Given the description of an element on the screen output the (x, y) to click on. 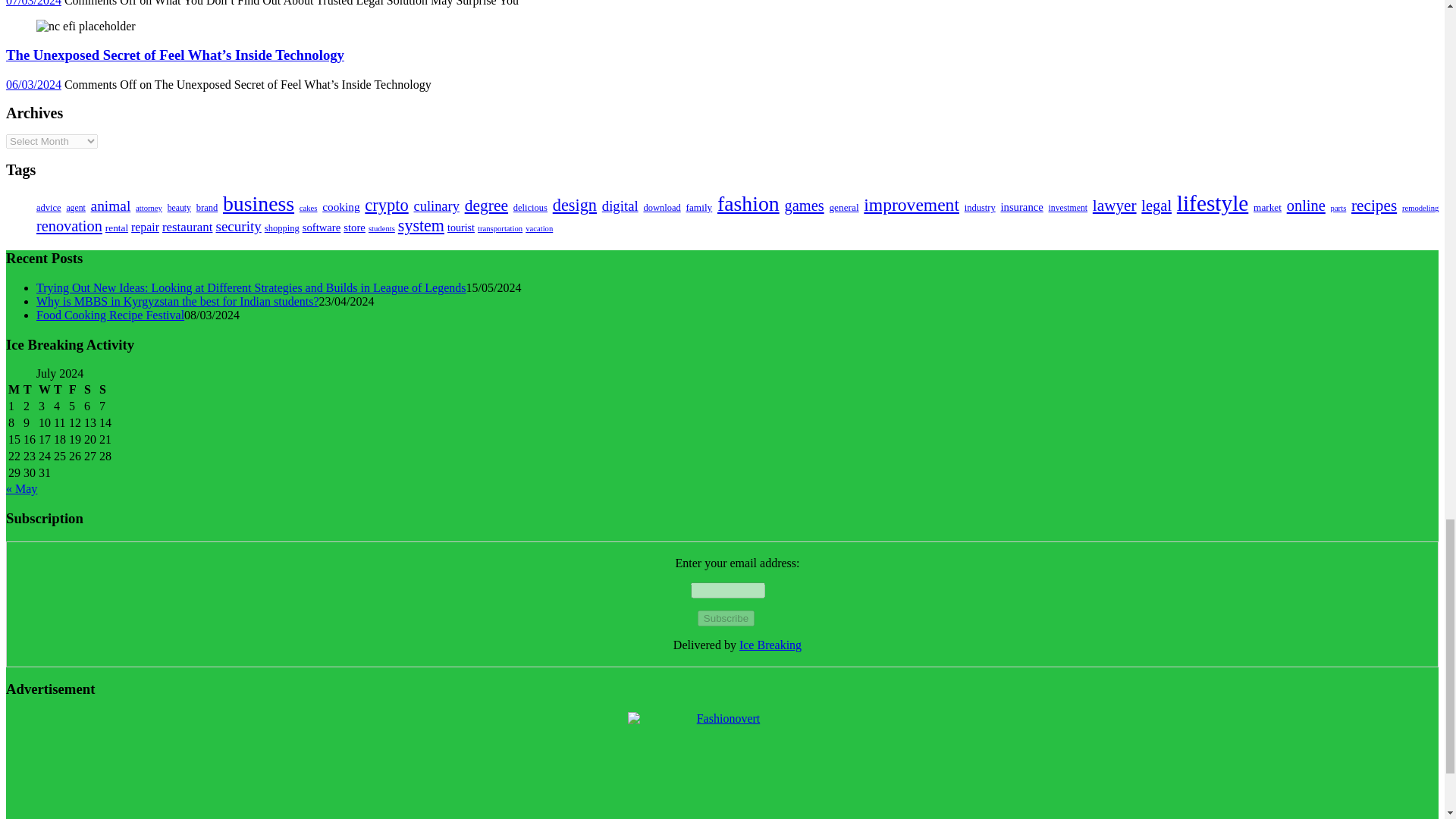
Thursday (59, 389)
Wednesday (43, 389)
Friday (74, 389)
Sunday (105, 389)
Monday (14, 389)
Tuesday (29, 389)
The Unexposed Secret of Feel What's Inside Technology (85, 26)
Fashionovert (721, 765)
Subscribe (725, 618)
Saturday (89, 389)
